Given the description of an element on the screen output the (x, y) to click on. 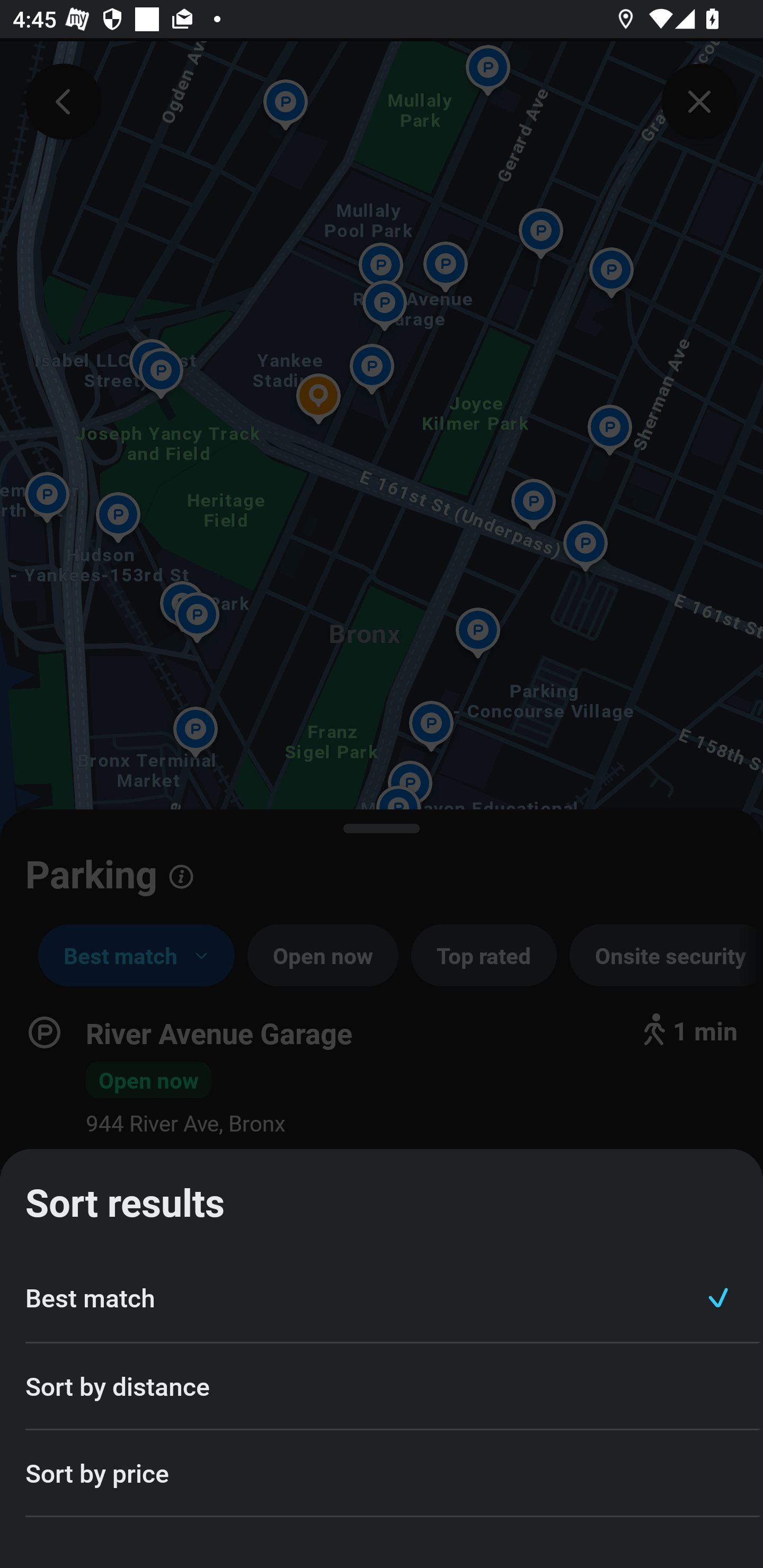
Best match ACTION_CELL_TEXT (381, 1297)
Sort by distance ACTION_CELL_TEXT (381, 1386)
Sort by price ACTION_CELL_TEXT (381, 1473)
